Given the description of an element on the screen output the (x, y) to click on. 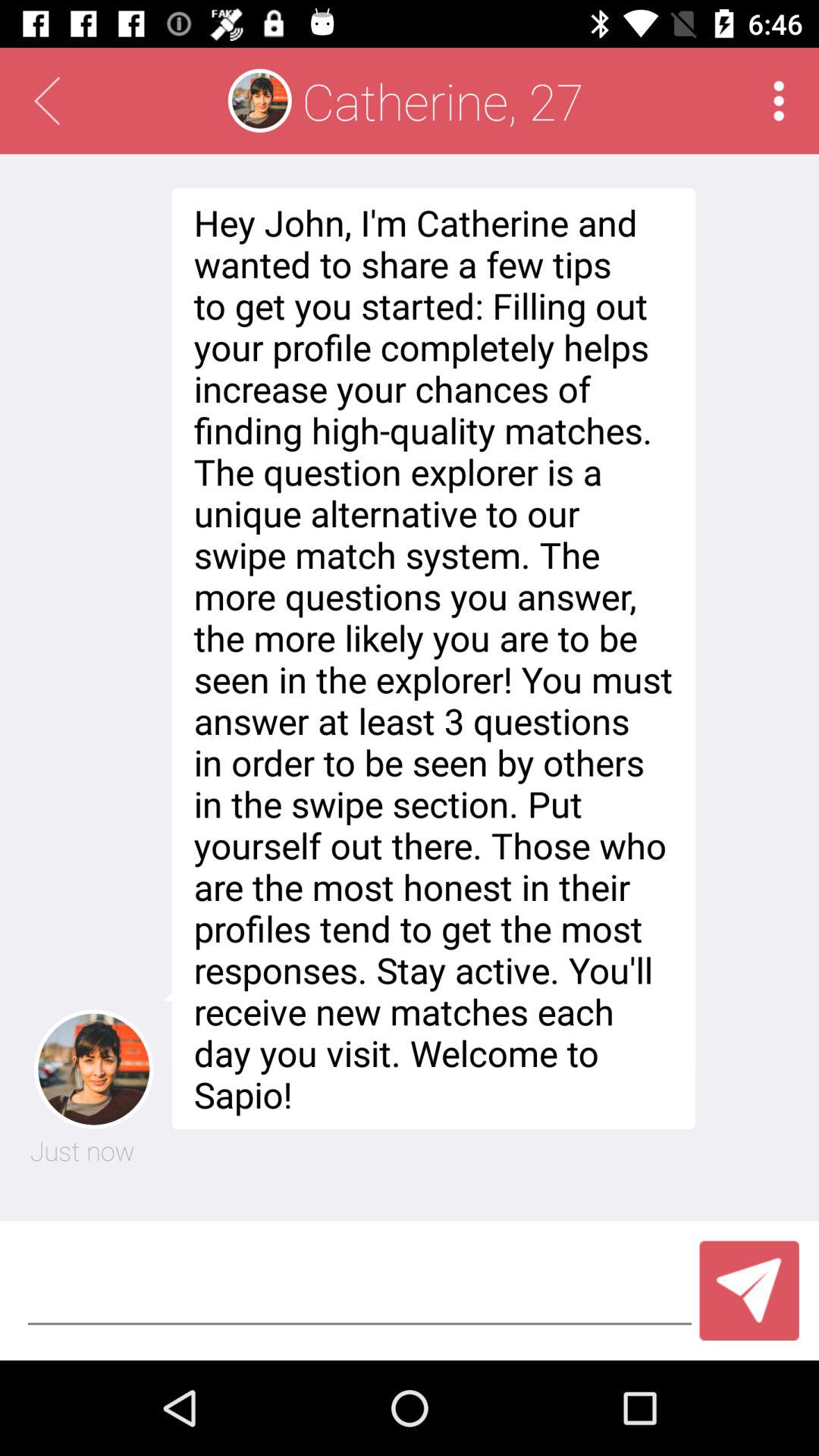
press the just now item (82, 1150)
